Given the description of an element on the screen output the (x, y) to click on. 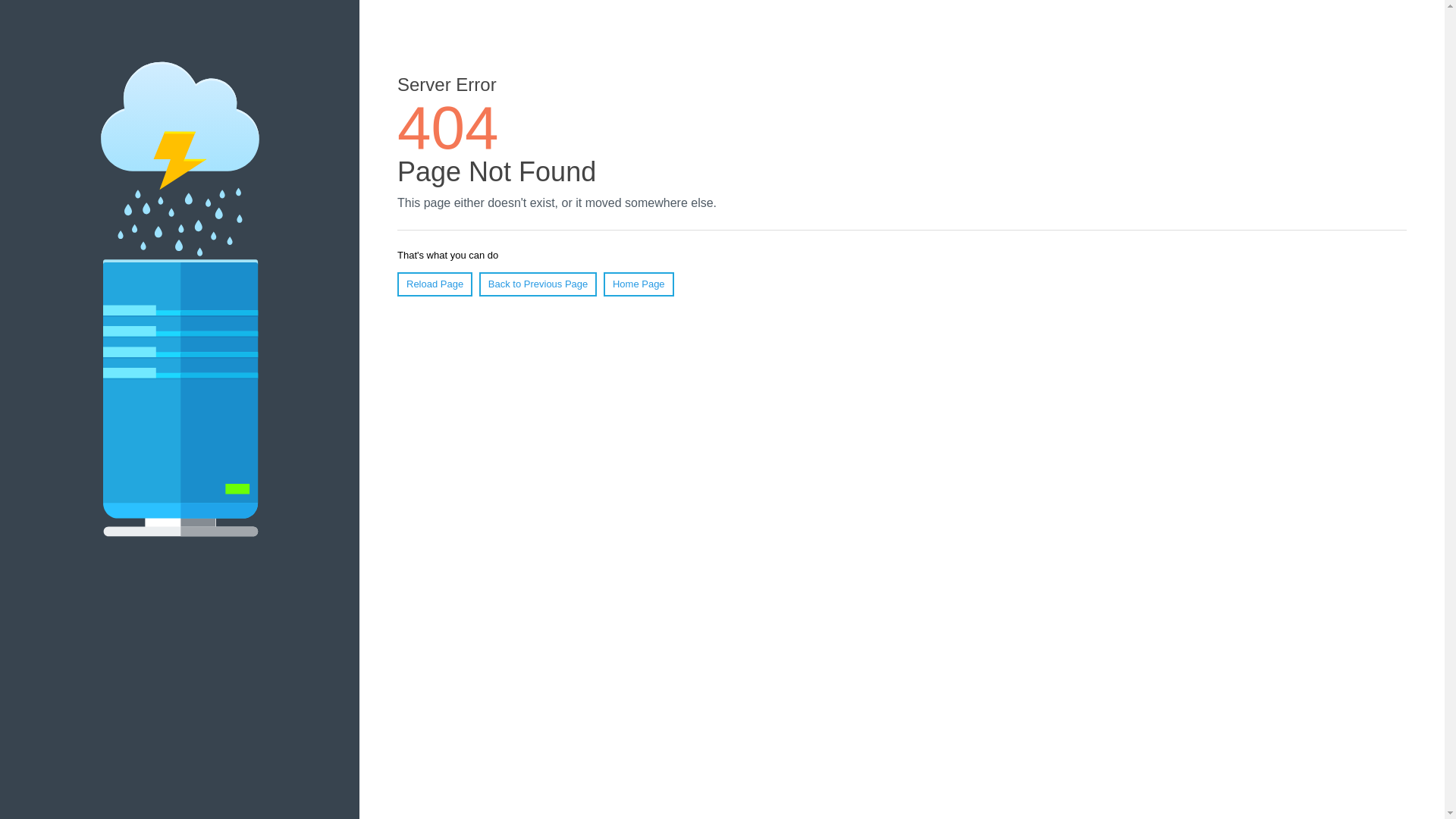
Reload Page Element type: text (434, 284)
Home Page Element type: text (638, 284)
Back to Previous Page Element type: text (538, 284)
